Given the description of an element on the screen output the (x, y) to click on. 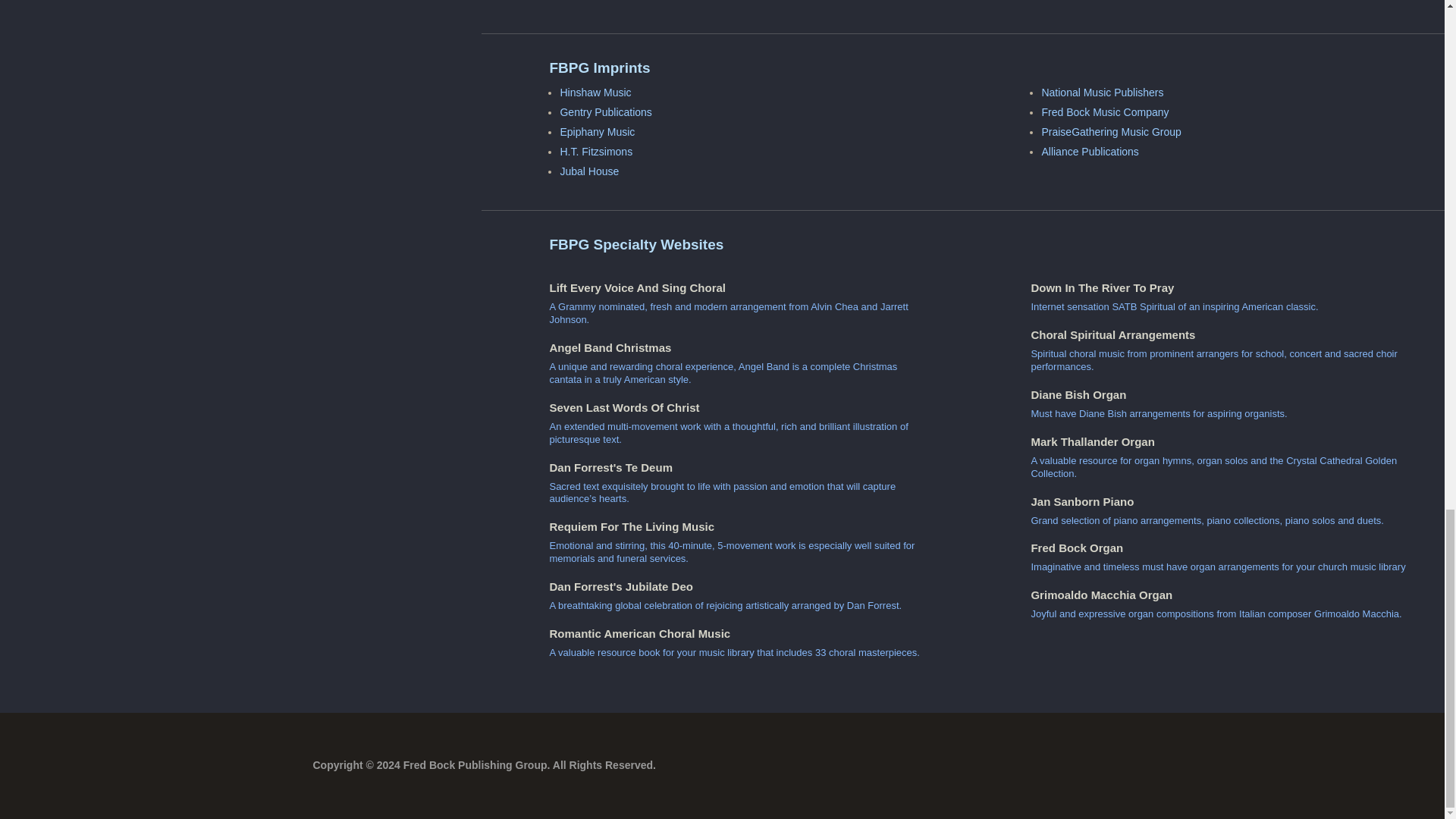
Epiphany Music (596, 132)
Hinshaw Music (594, 92)
H.T. Fitzsimons (595, 151)
Gentry Publications (604, 111)
